Given the description of an element on the screen output the (x, y) to click on. 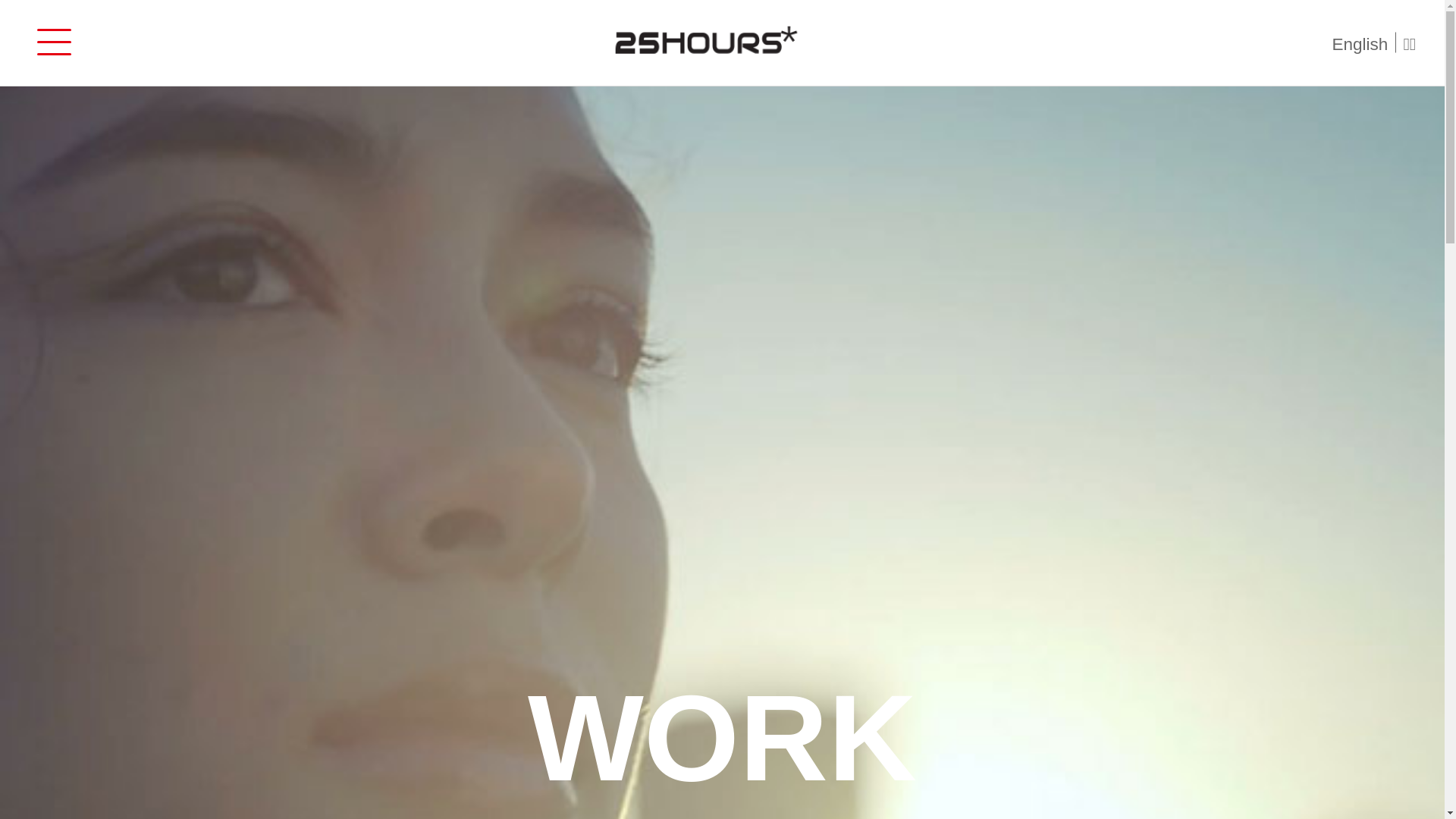
WORK Element type: text (722, 737)
English Element type: text (1363, 42)
